Given the description of an element on the screen output the (x, y) to click on. 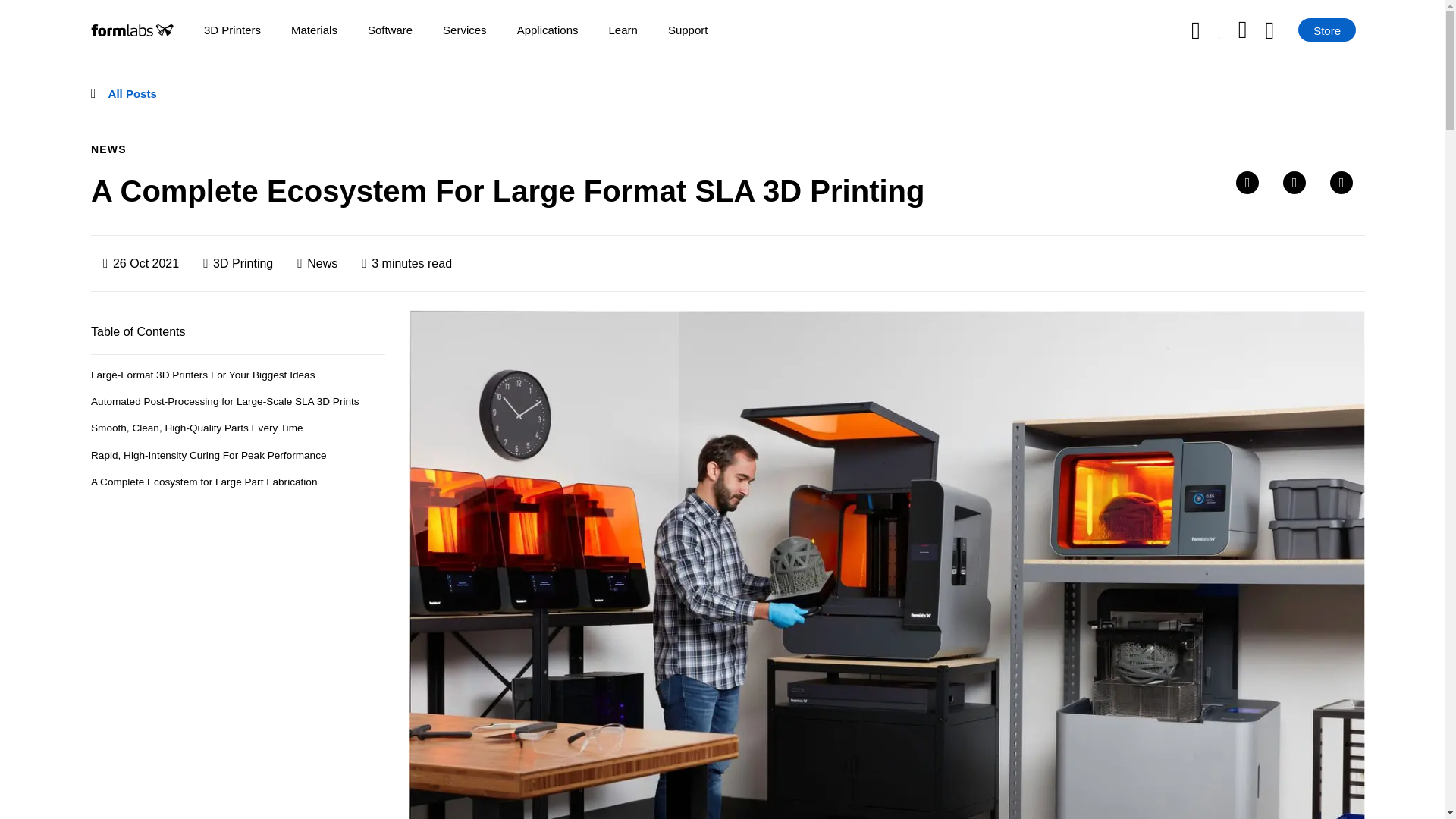
Software (390, 29)
Store (1326, 29)
Services (464, 29)
Learn (622, 29)
3D Printers (231, 29)
Support (687, 29)
Cart (1281, 30)
Materials (314, 29)
Store (1326, 29)
Applications (547, 29)
